Given the description of an element on the screen output the (x, y) to click on. 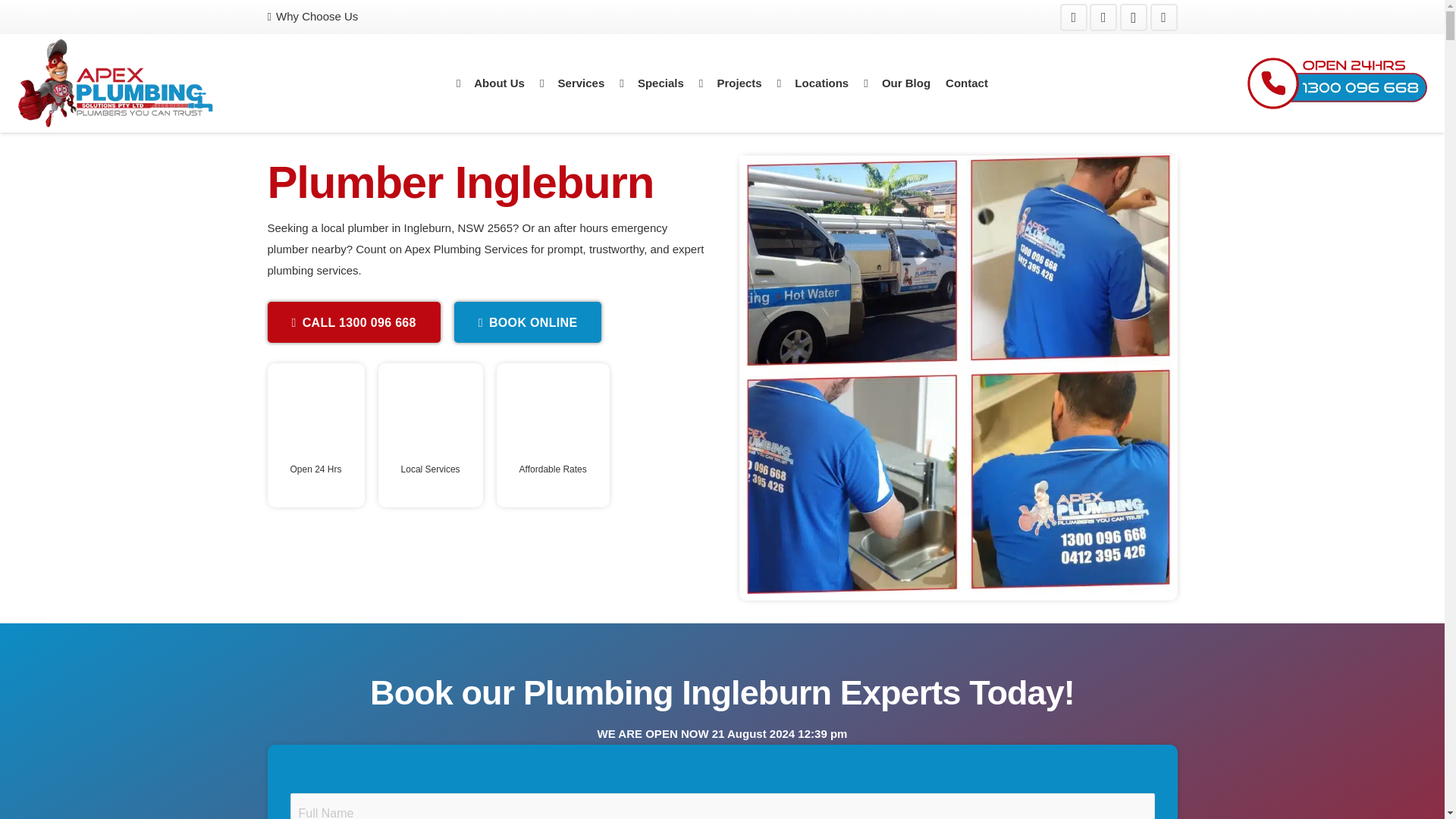
Instagram (1133, 16)
Google (1163, 16)
Facebook (1073, 16)
YouTube (1102, 16)
Why Choose Us (312, 15)
